Given the description of an element on the screen output the (x, y) to click on. 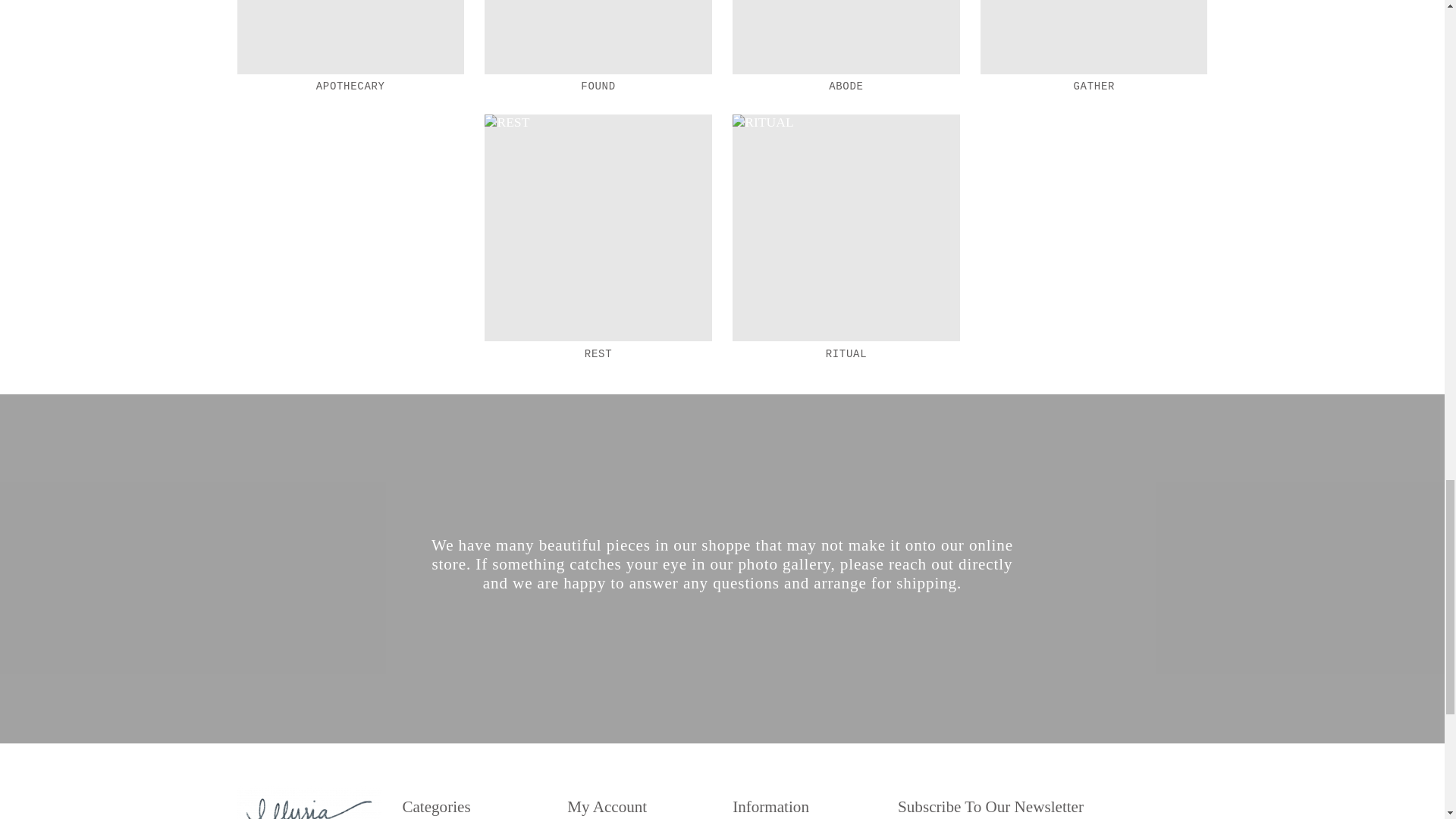
FOUND (597, 36)
RITUAL (845, 227)
APOTHECARY (350, 36)
ABODE (845, 36)
GATHER  (1093, 36)
REST (597, 227)
